Given the description of an element on the screen output the (x, y) to click on. 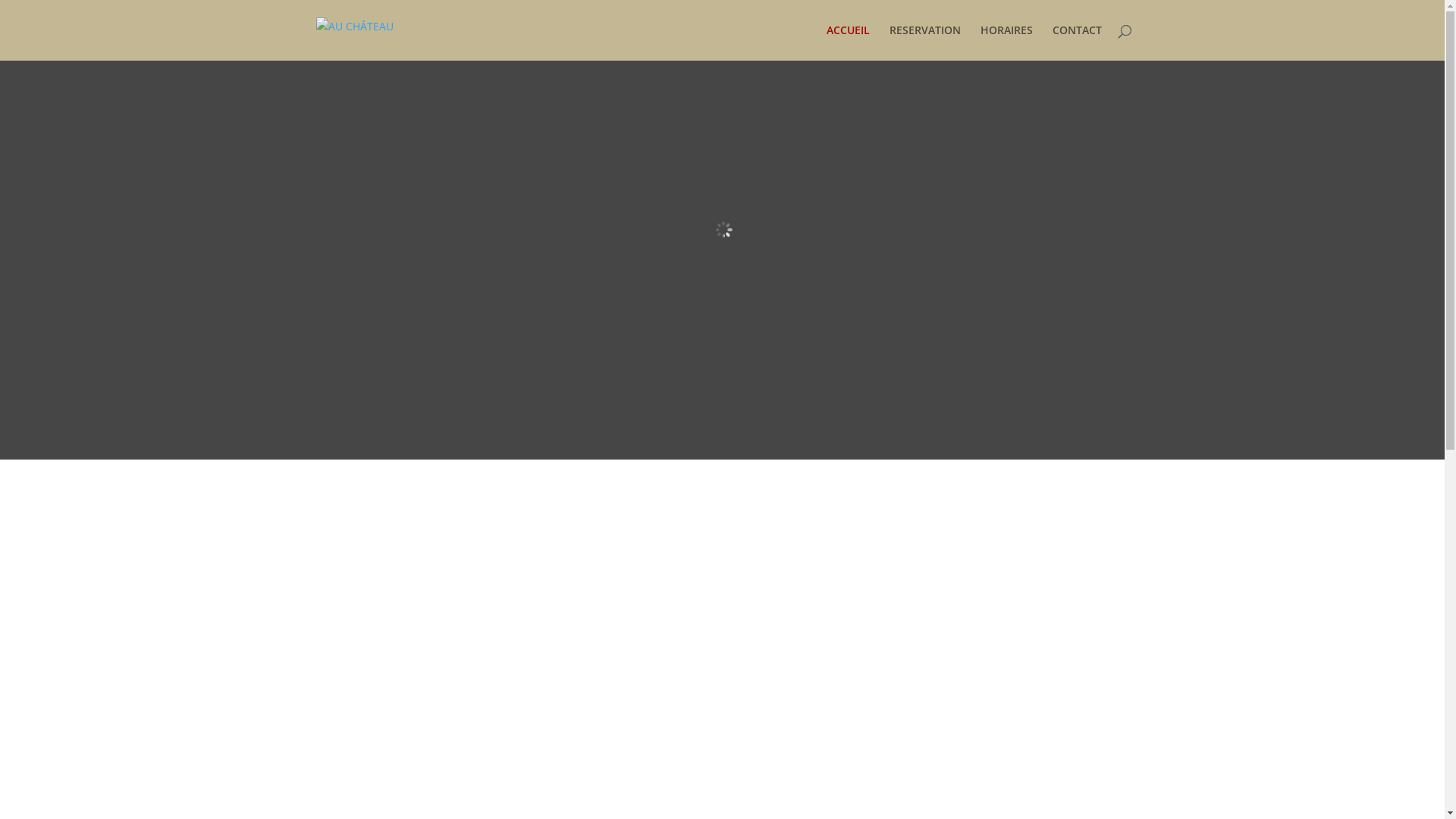
CONTACT Element type: text (1076, 42)
HORAIRES Element type: text (1005, 42)
RESERVATION Element type: text (924, 42)
ACCUEIL Element type: text (847, 42)
